Given the description of an element on the screen output the (x, y) to click on. 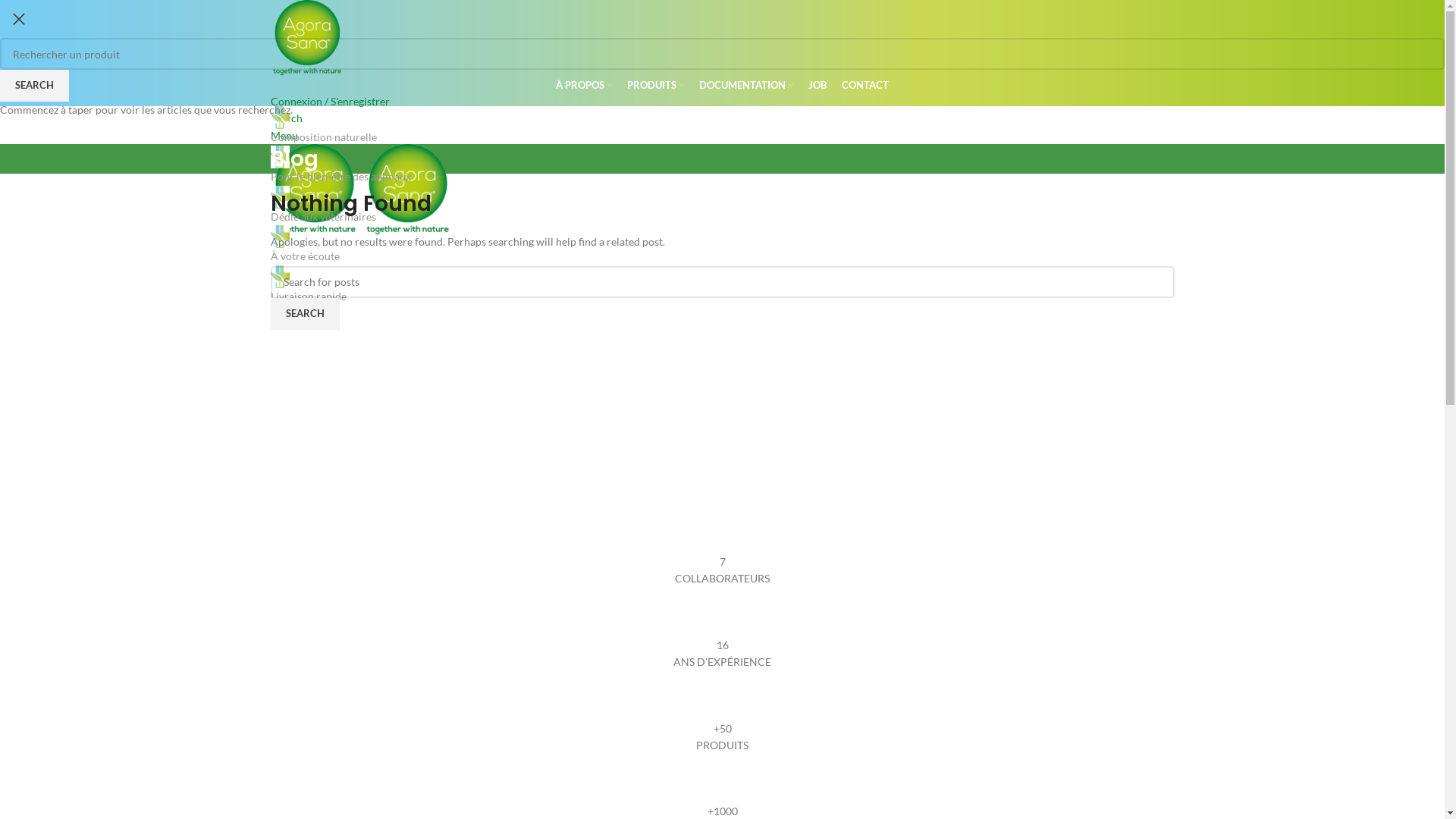
PRODUITS Element type: text (655, 85)
SEARCH Element type: text (34, 85)
SEARCH Element type: text (303, 313)
Logo VediVet Element type: hover (278, 196)
Connexion / S'enregistrer Element type: text (329, 100)
Search Element type: text (285, 117)
Logo VediVet Element type: hover (278, 156)
JOB Element type: text (817, 85)
Logo VediVet Element type: hover (278, 117)
Logo VediVet Element type: hover (278, 276)
Search for posts Element type: hover (721, 282)
CONTACT Element type: text (864, 85)
Menu Element type: text (283, 134)
Logo VediVet Element type: hover (278, 236)
DOCUMENTATION Element type: text (746, 85)
Rechercher un produit Element type: hover (722, 53)
